Given the description of an element on the screen output the (x, y) to click on. 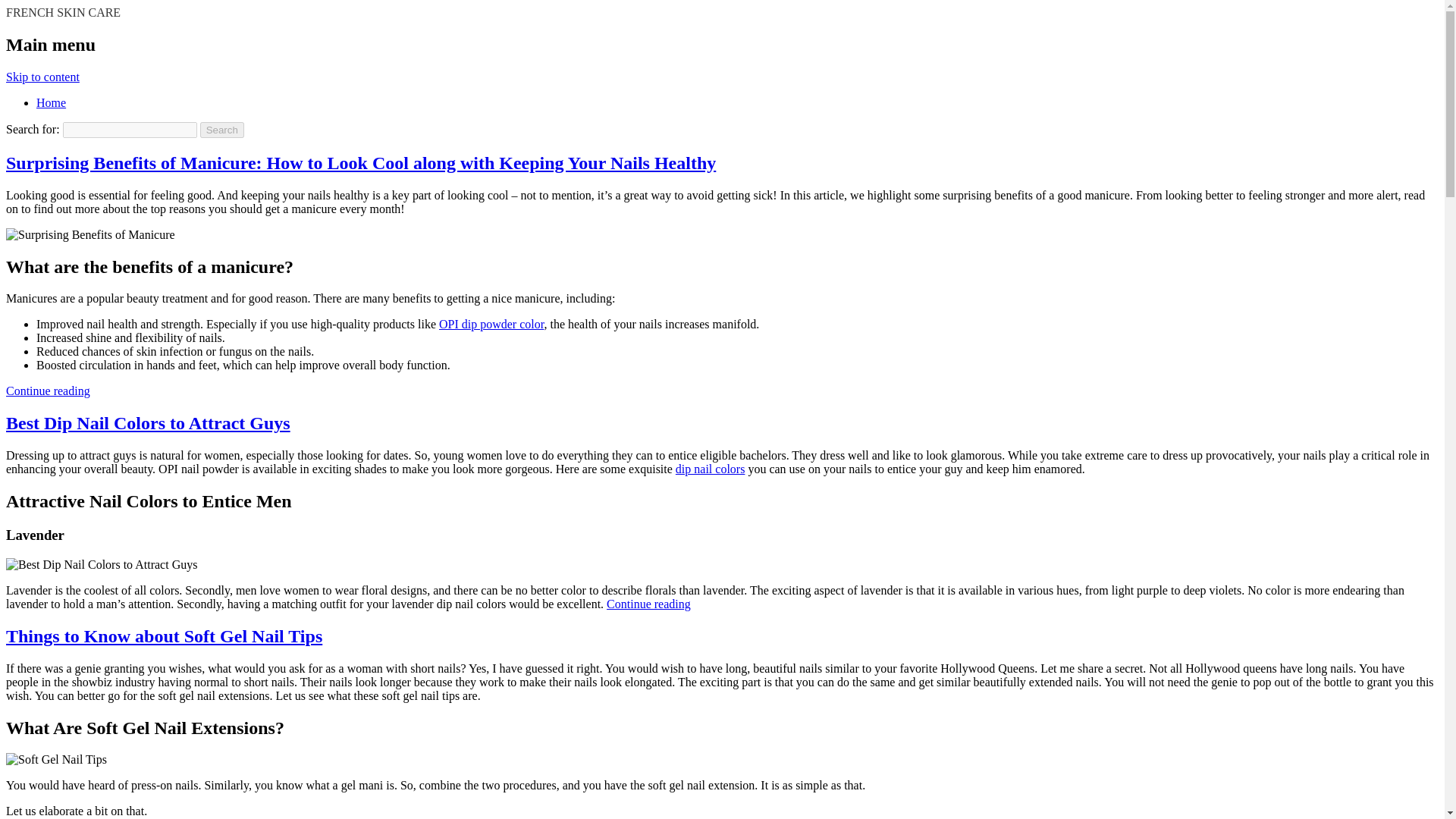
Search (222, 130)
Permalink to Best Dip Nail Colors to Attract Guys (147, 423)
Permalink to Things to Know about Soft Gel Nail Tips (163, 636)
Continue reading (648, 603)
dip nail colors (710, 468)
Best Dip Nail Colors to Attract Guys (147, 423)
Home (50, 102)
Skip to content (42, 76)
French Skin Care (62, 11)
FRENCH SKIN CARE (62, 11)
Skip to content (42, 76)
Continue reading (47, 390)
Things to Know about Soft Gel Nail Tips (163, 636)
